Given the description of an element on the screen output the (x, y) to click on. 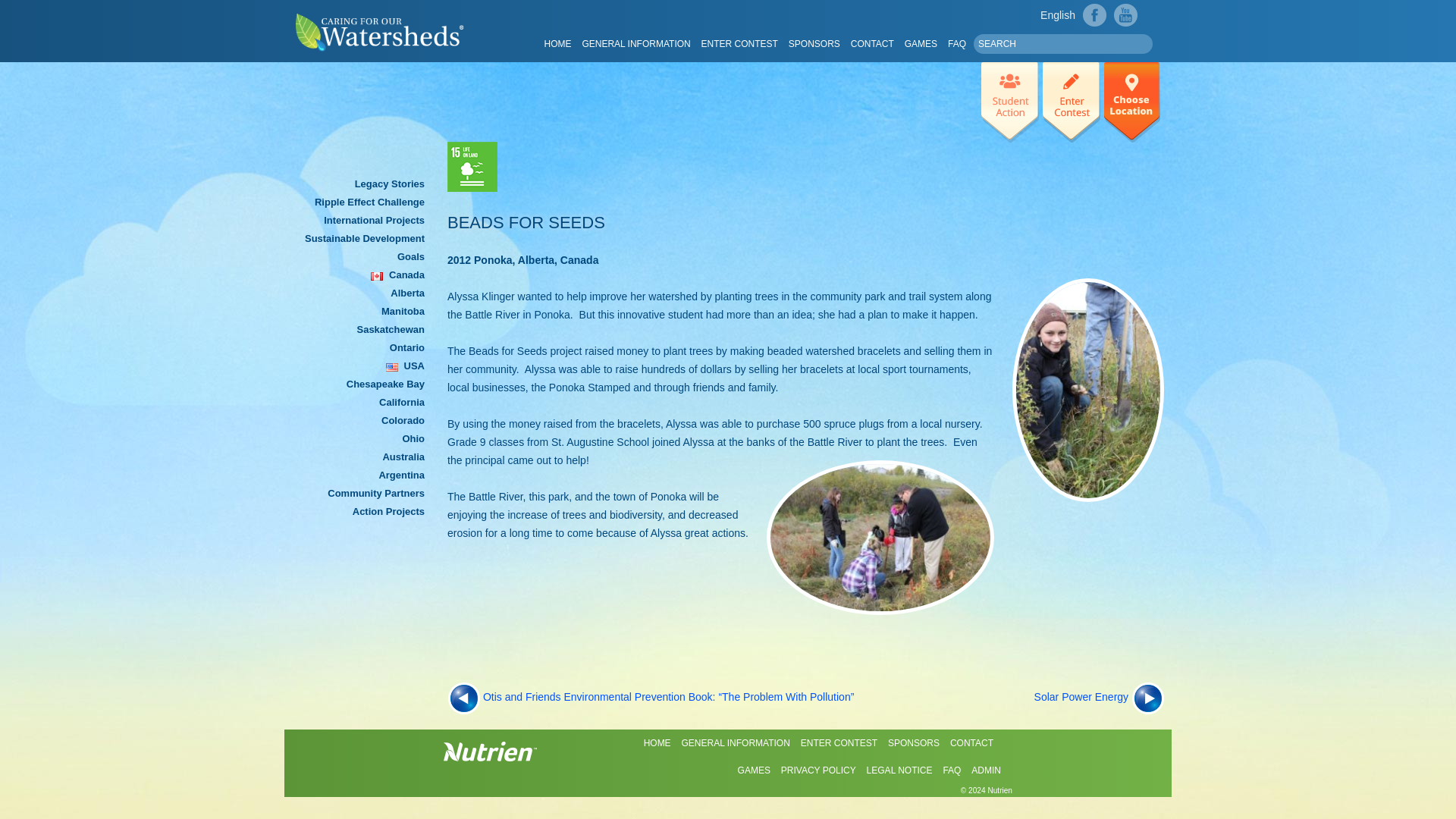
HOME (556, 43)
ENTER CONTEST (739, 43)
GENERAL INFORMATION (635, 43)
 Canada (405, 274)
Saskatchewan (390, 328)
English (1057, 15)
Alberta (407, 292)
GAMES (920, 43)
California (401, 401)
  International Projects (371, 220)
Legacy Stories (390, 183)
SPONSORS (814, 43)
Life On Land (471, 166)
 USA (413, 365)
Sustainable Development Goals (364, 247)
